Given the description of an element on the screen output the (x, y) to click on. 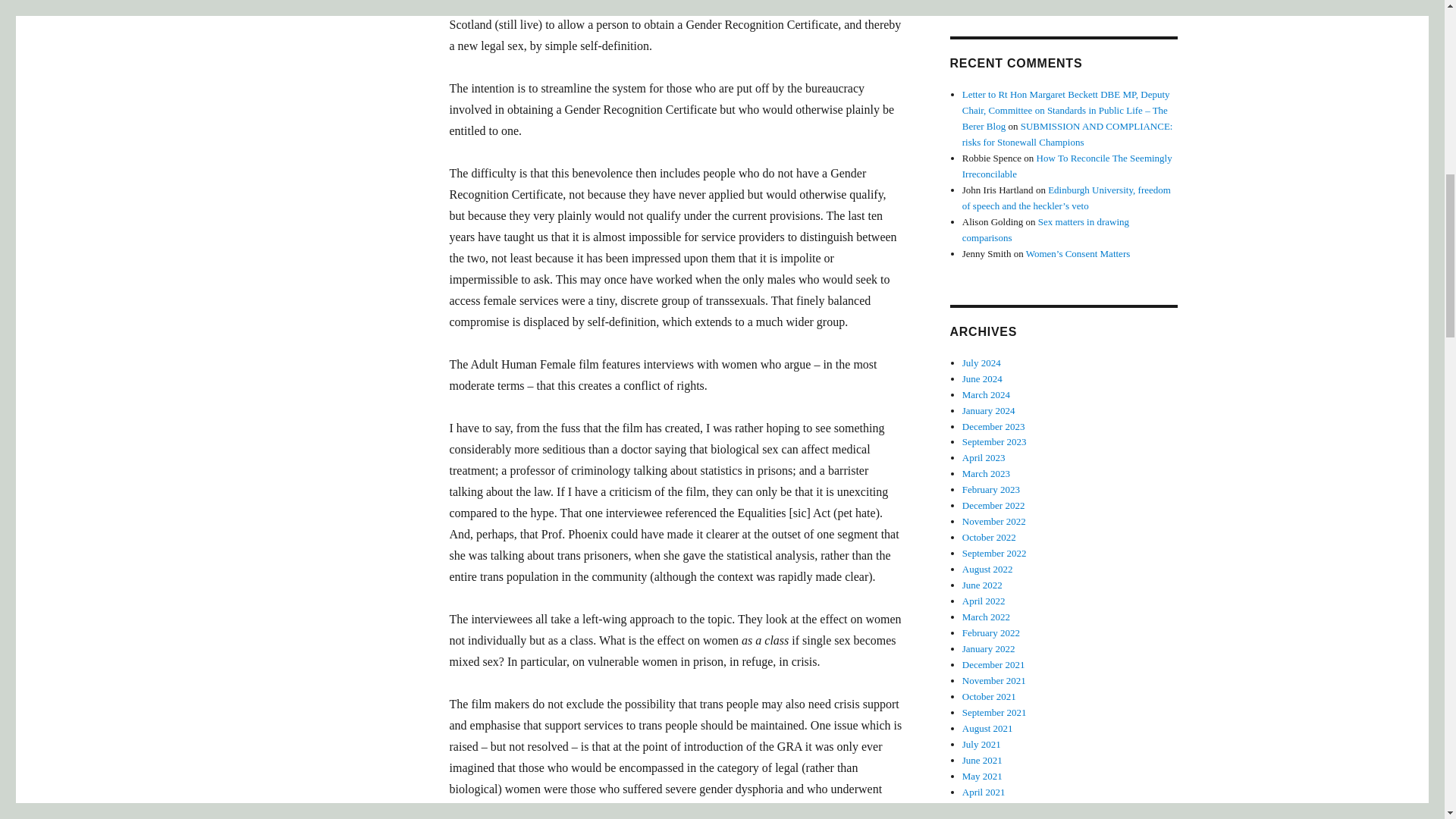
March 2024 (986, 394)
SUBMISSION AND COMPLIANCE: risks for Stonewall Champions (1067, 134)
Sex matters in drawing comparisons (1045, 229)
How To Reconcile The Seemingly Irreconcilable (1067, 165)
June 2024 (982, 378)
July 2024 (981, 362)
